Given the description of an element on the screen output the (x, y) to click on. 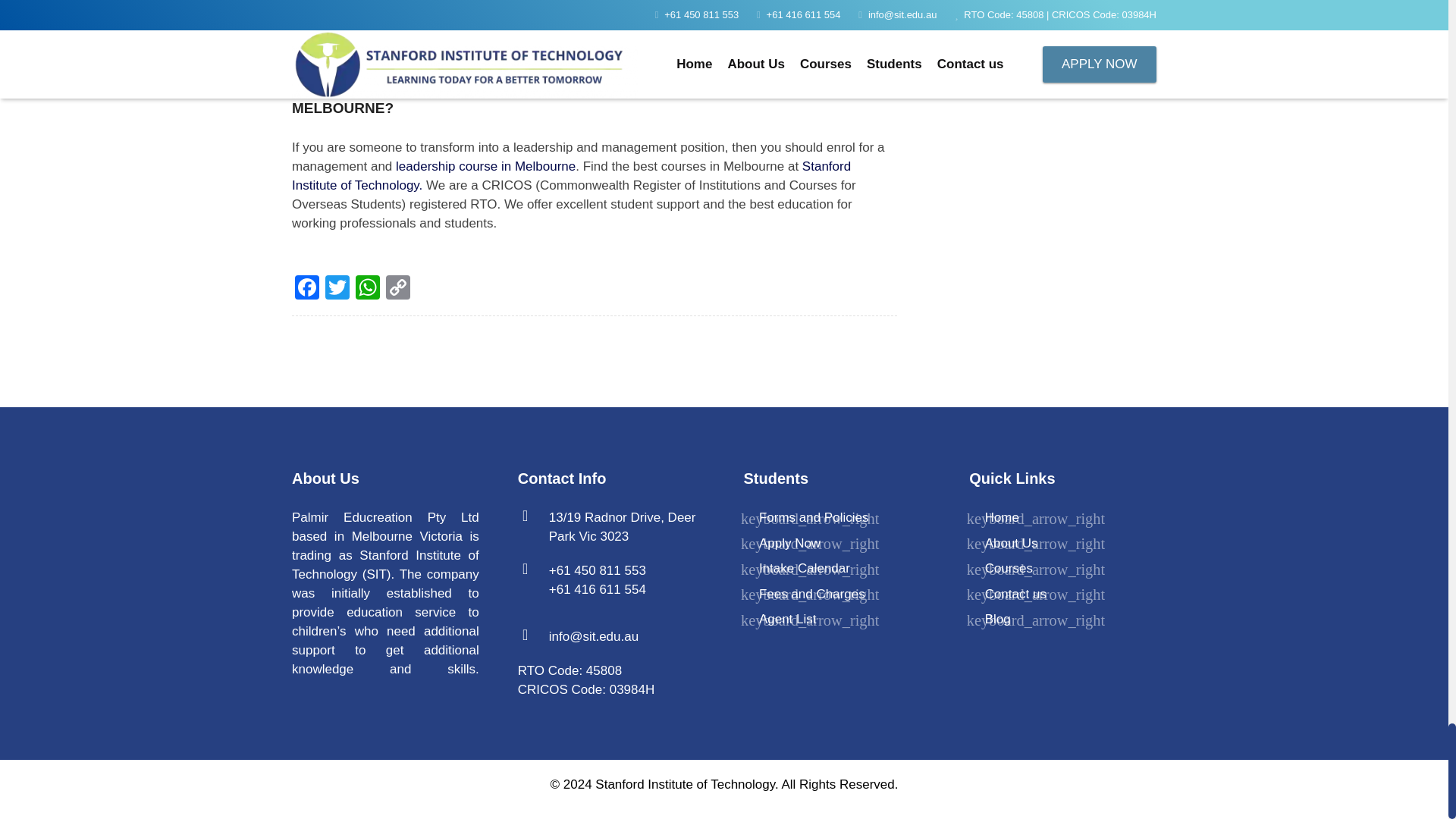
Stanford Institute of Technology. (571, 175)
Facebook (306, 289)
leadership course in Melbourne (485, 165)
WhatsApp (367, 289)
Facebook (306, 289)
WhatsApp (367, 289)
Twitter (336, 289)
Copy Link (397, 289)
Copy Link (397, 289)
Twitter (336, 289)
